Given the description of an element on the screen output the (x, y) to click on. 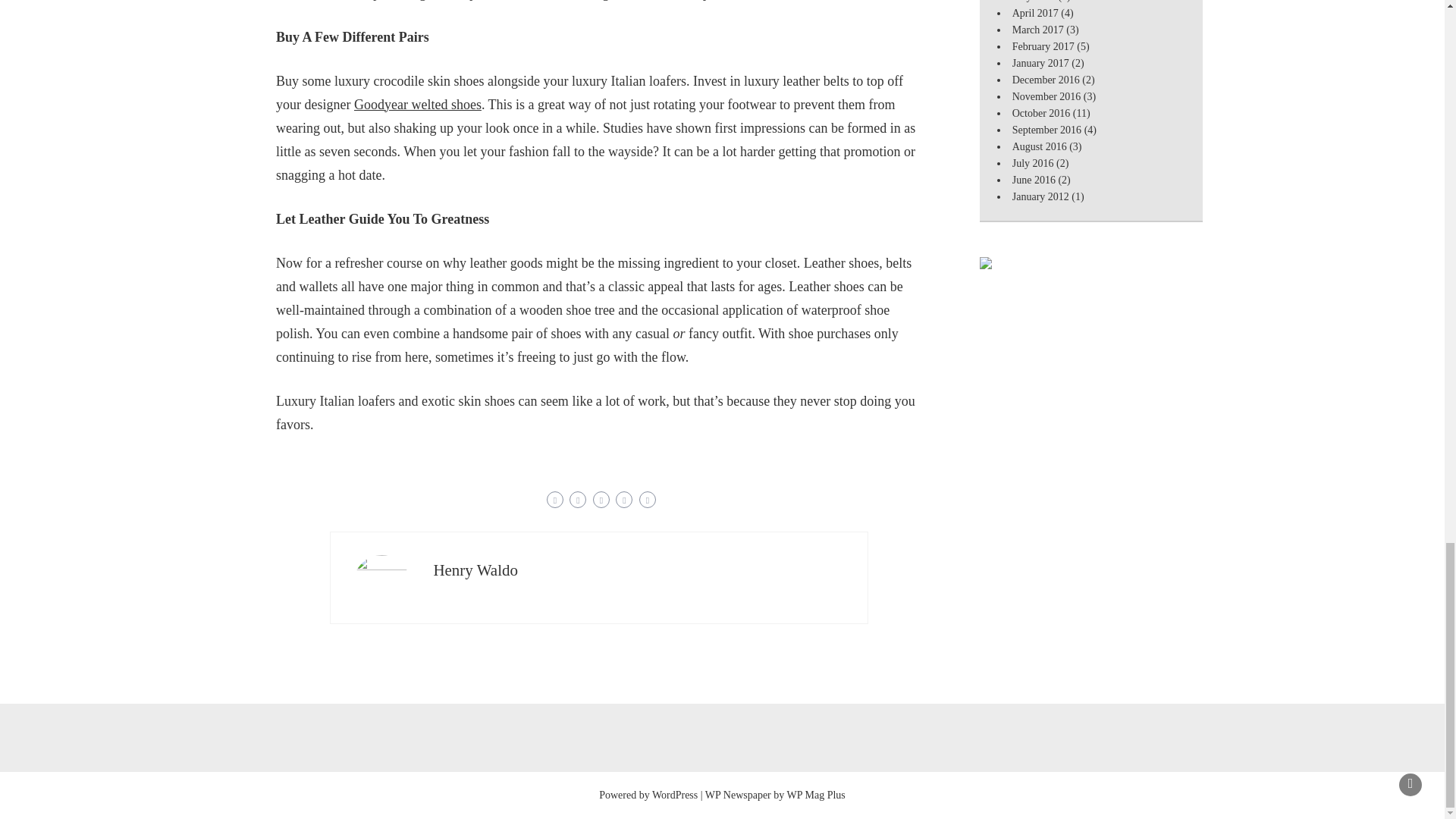
Goodyear welted shoes (417, 103)
Get more info about Exotic mens boots (417, 103)
Henry Waldo (475, 569)
